Given the description of an element on the screen output the (x, y) to click on. 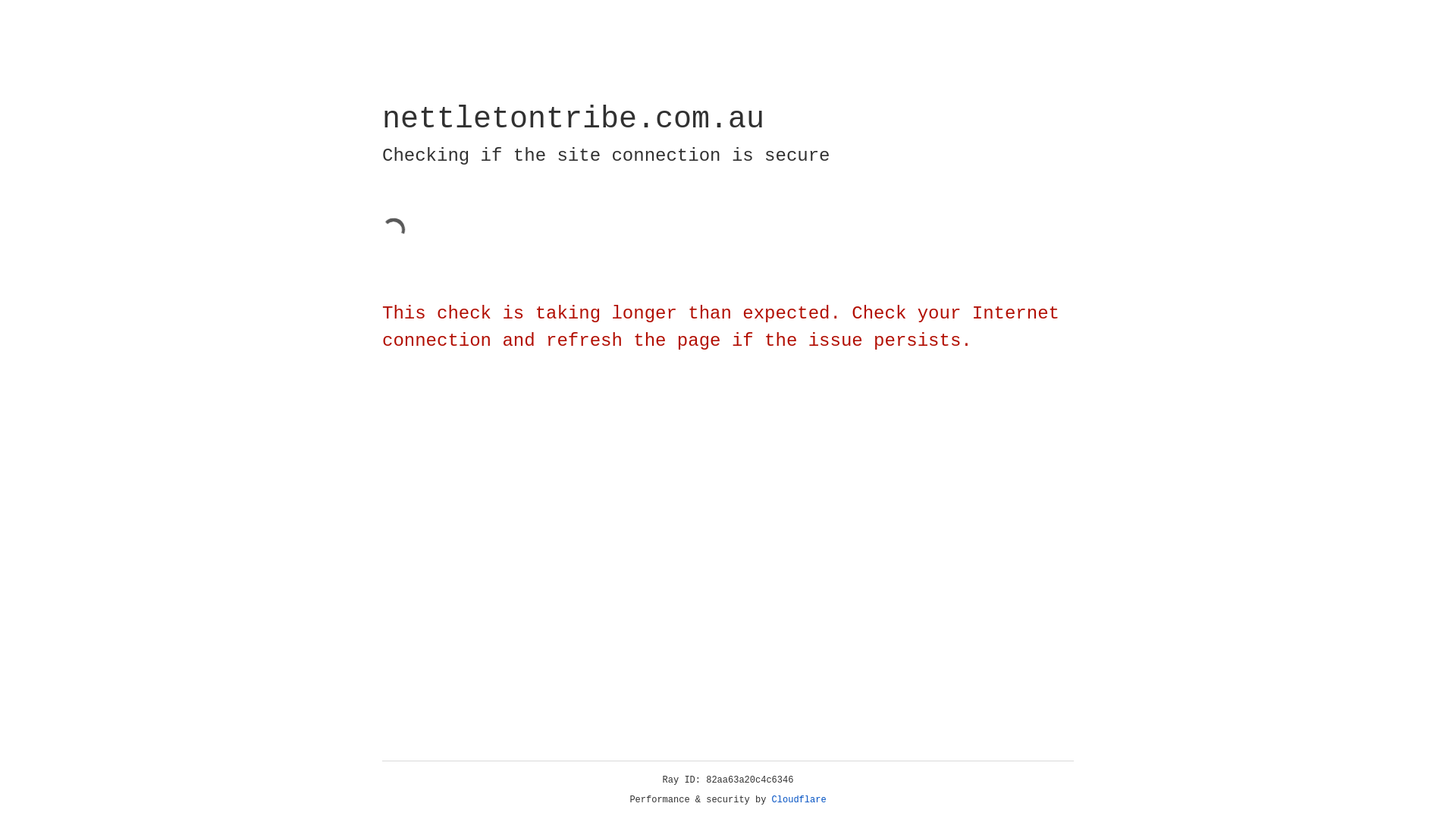
Cloudflare Element type: text (798, 799)
